Given the description of an element on the screen output the (x, y) to click on. 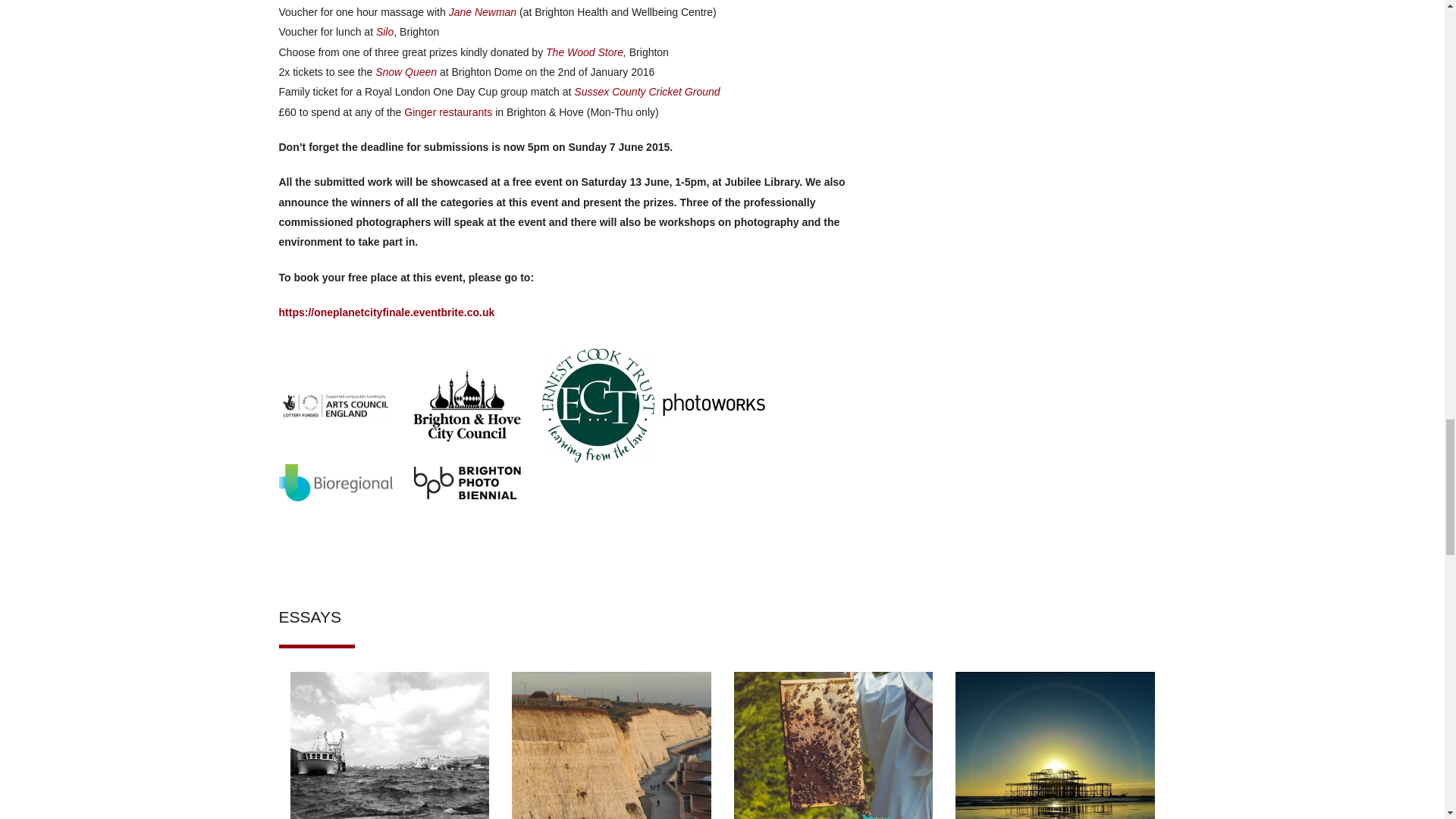
Ginger restaurants (448, 111)
Snow Queen (405, 71)
The Wood Store (584, 51)
Sussex County Cricket Ground (646, 91)
Silo (384, 31)
Jane Newman (482, 11)
